Given the description of an element on the screen output the (x, y) to click on. 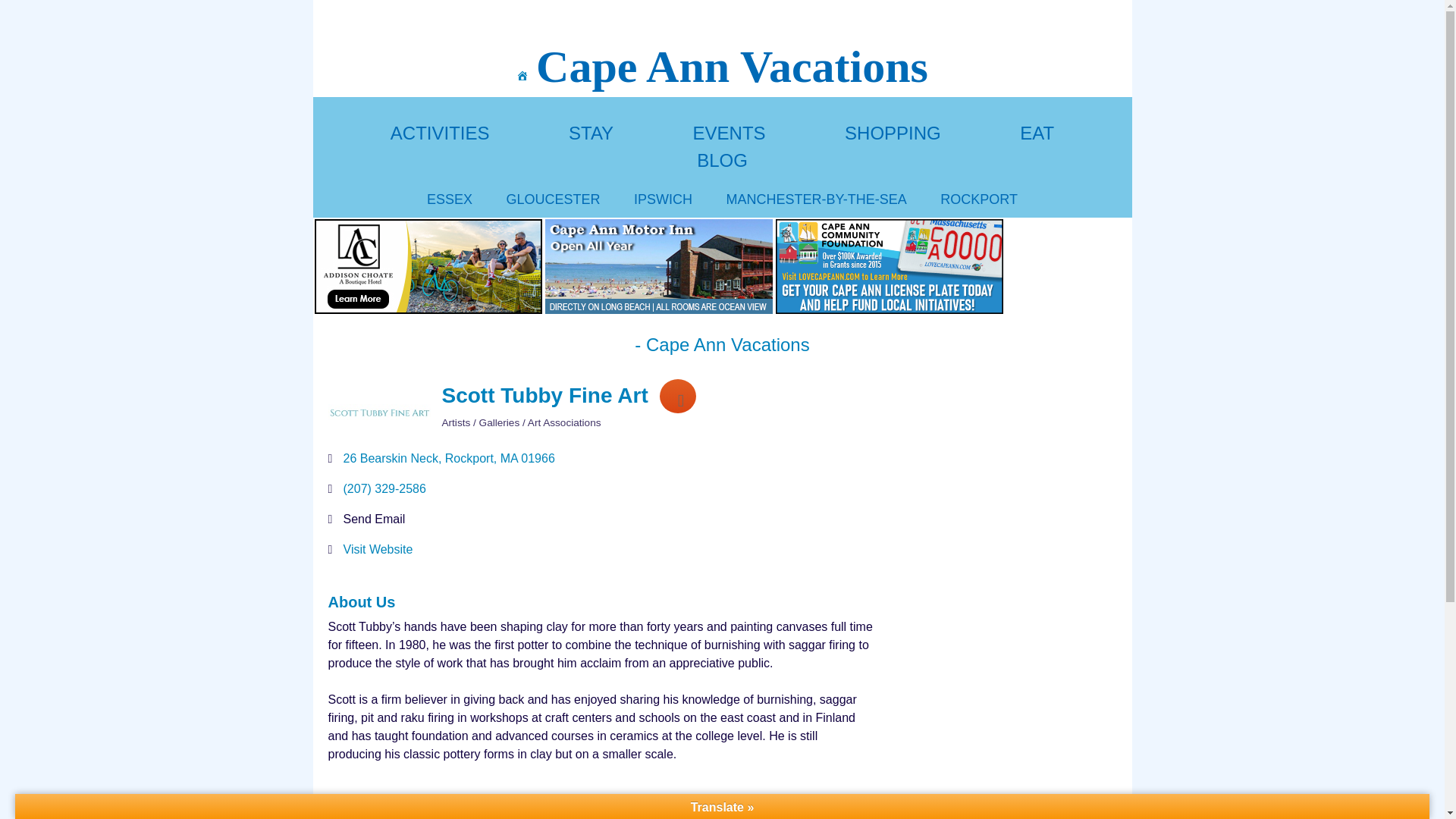
EVENTS (729, 132)
IPSWICH (663, 199)
26 Bearskin Neck Rockport MA 01966 (448, 458)
MANCHESTER-BY-THE-SEA (815, 199)
ACTIVITIES (439, 132)
GLOUCESTER (552, 199)
STAY (590, 132)
Send Email (373, 518)
EAT (1037, 132)
SHOPPING (892, 132)
